Given the description of an element on the screen output the (x, y) to click on. 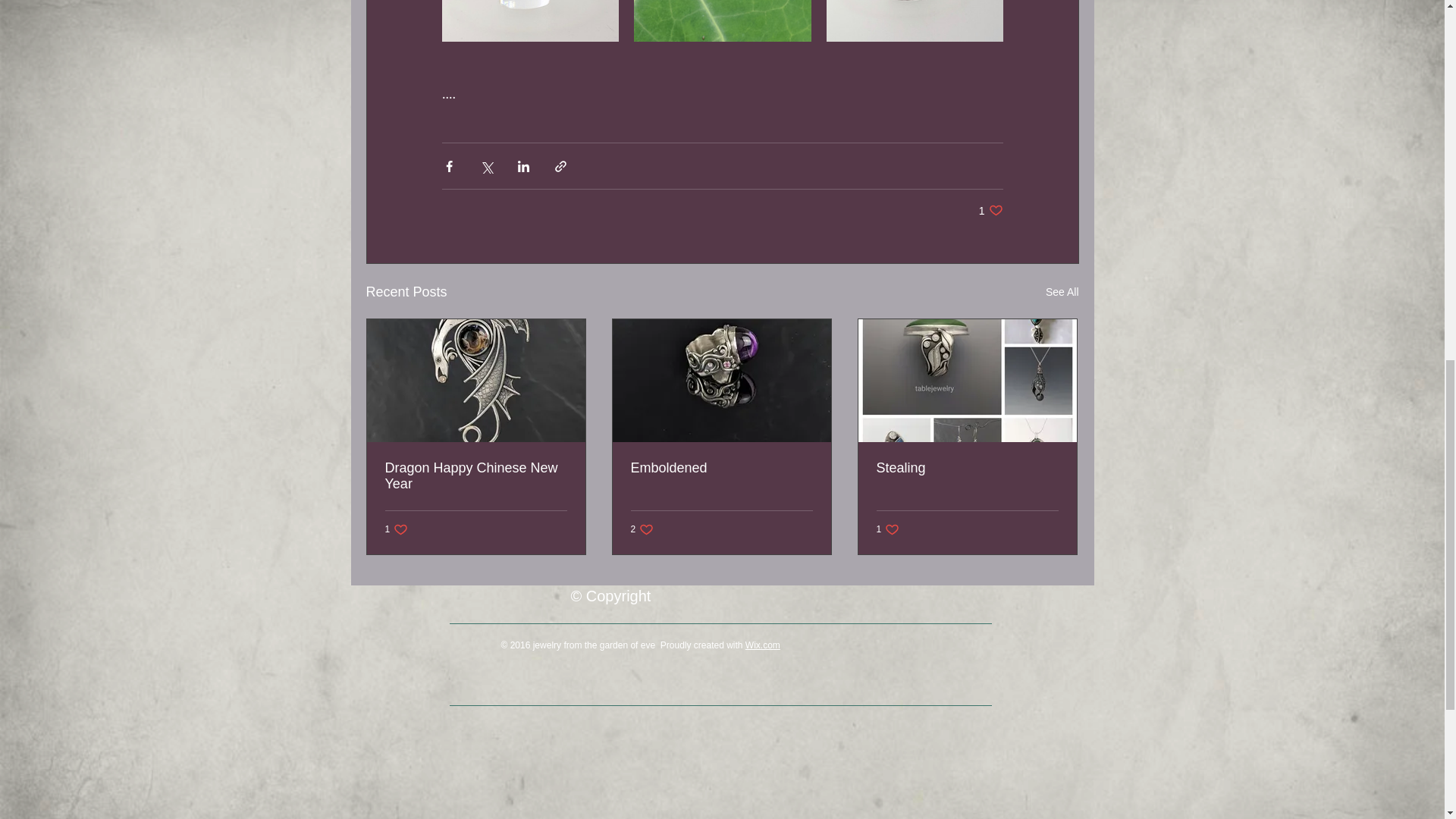
See All (1061, 292)
Emboldened (721, 467)
Wix.com (397, 529)
Dragon Happy Chinese New Year (762, 644)
Stealing (990, 210)
